Given the description of an element on the screen output the (x, y) to click on. 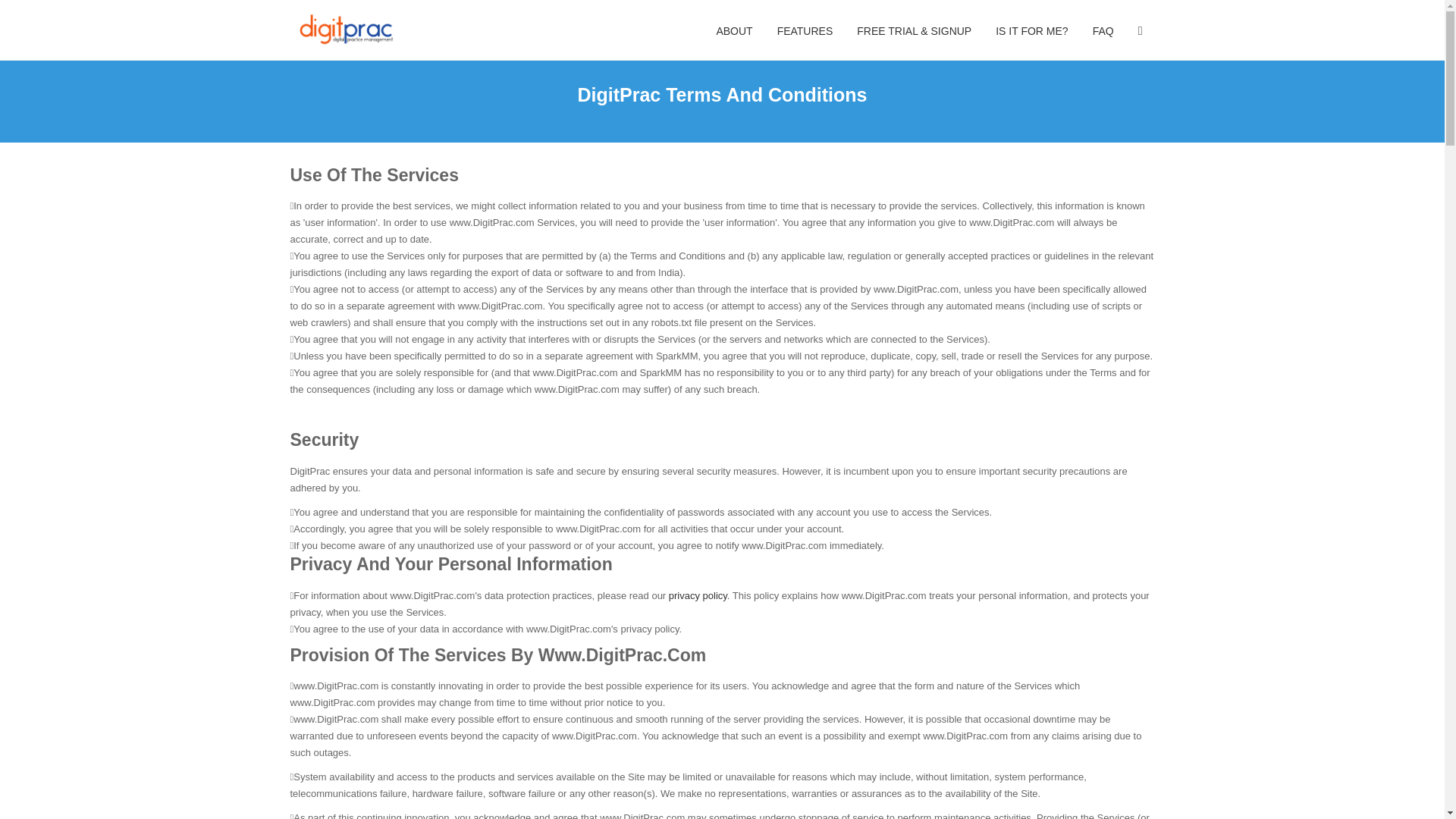
FEATURES (805, 29)
ABOUT (733, 29)
IS IT FOR ME? (1032, 29)
privacy policy (697, 595)
